Given the description of an element on the screen output the (x, y) to click on. 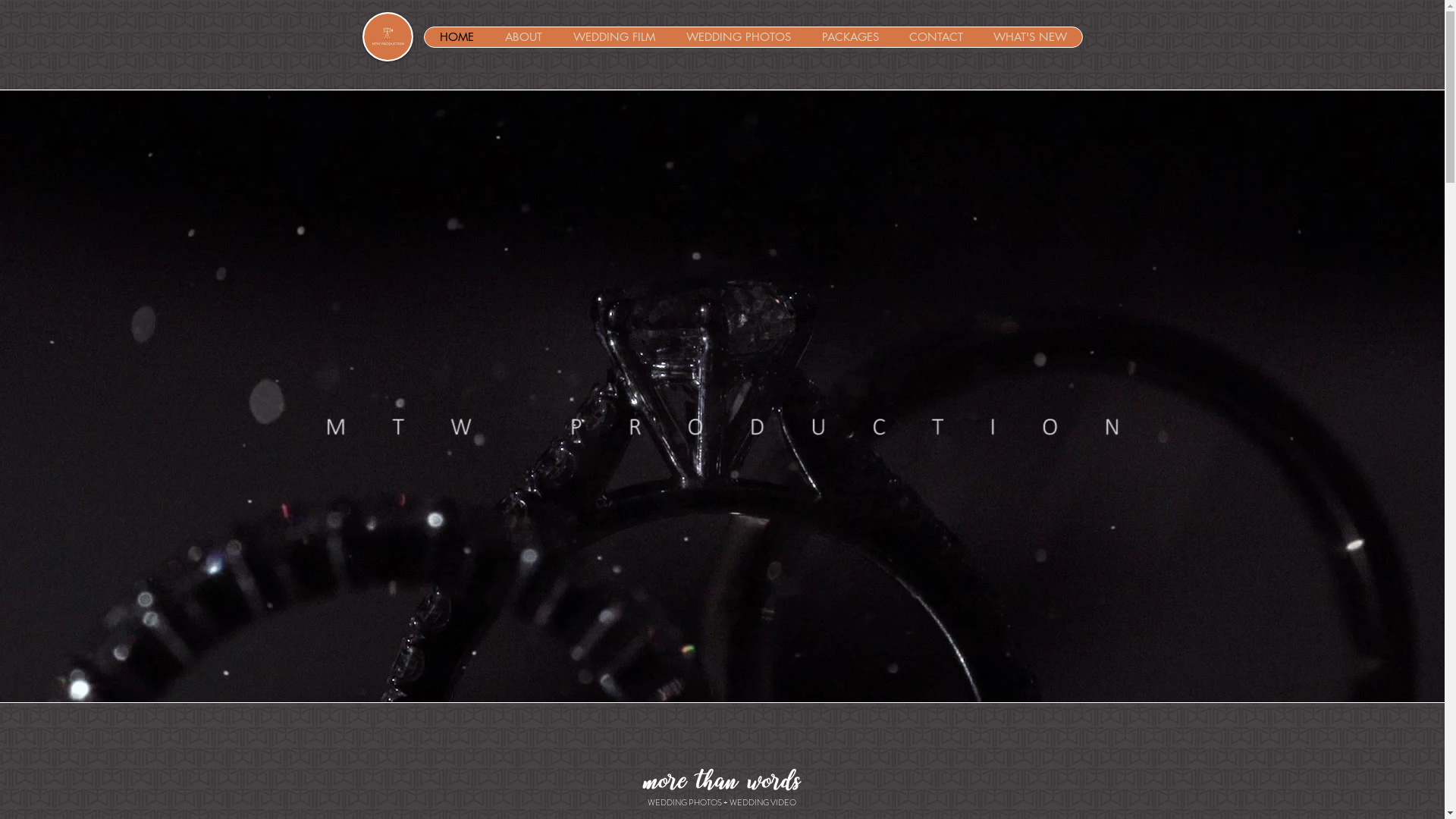
WEDDING FILM Element type: text (612, 37)
HOME Element type: text (456, 37)
ABOUT Element type: text (522, 37)
WHAT'S NEW Element type: text (1030, 37)
PACKAGES Element type: text (849, 37)
CONTACT Element type: text (935, 37)
WEDDING PHOTOS Element type: text (738, 37)
